Given the description of an element on the screen output the (x, y) to click on. 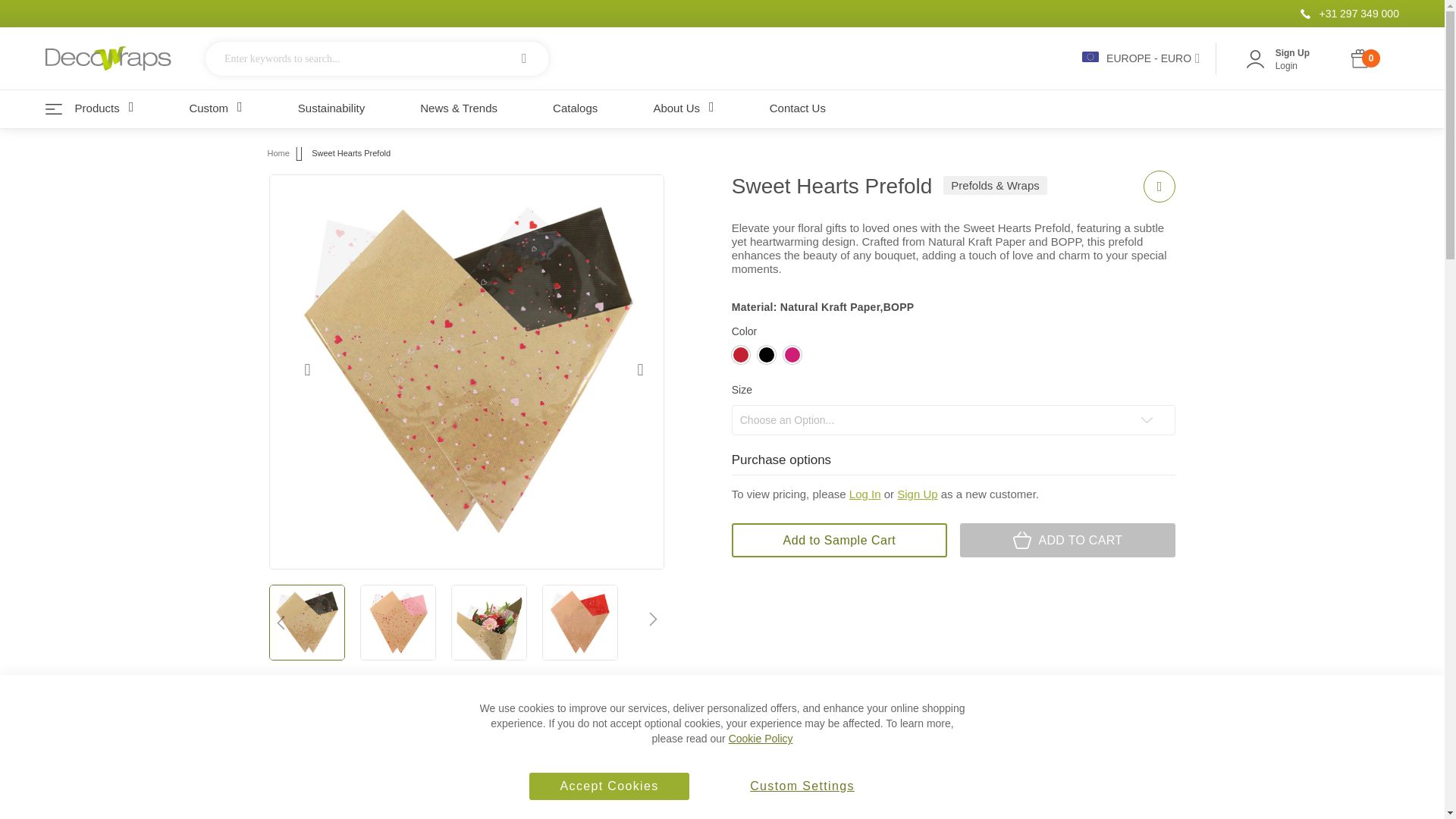
Decowraps (108, 58)
Sign Up (1291, 52)
0 (1363, 58)
Search (523, 57)
Go to Home Page (277, 153)
Add to Wishlist (1158, 186)
Products (102, 108)
Add to cart (1066, 540)
Login (1286, 65)
Decowraps (114, 56)
